Given the description of an element on the screen output the (x, y) to click on. 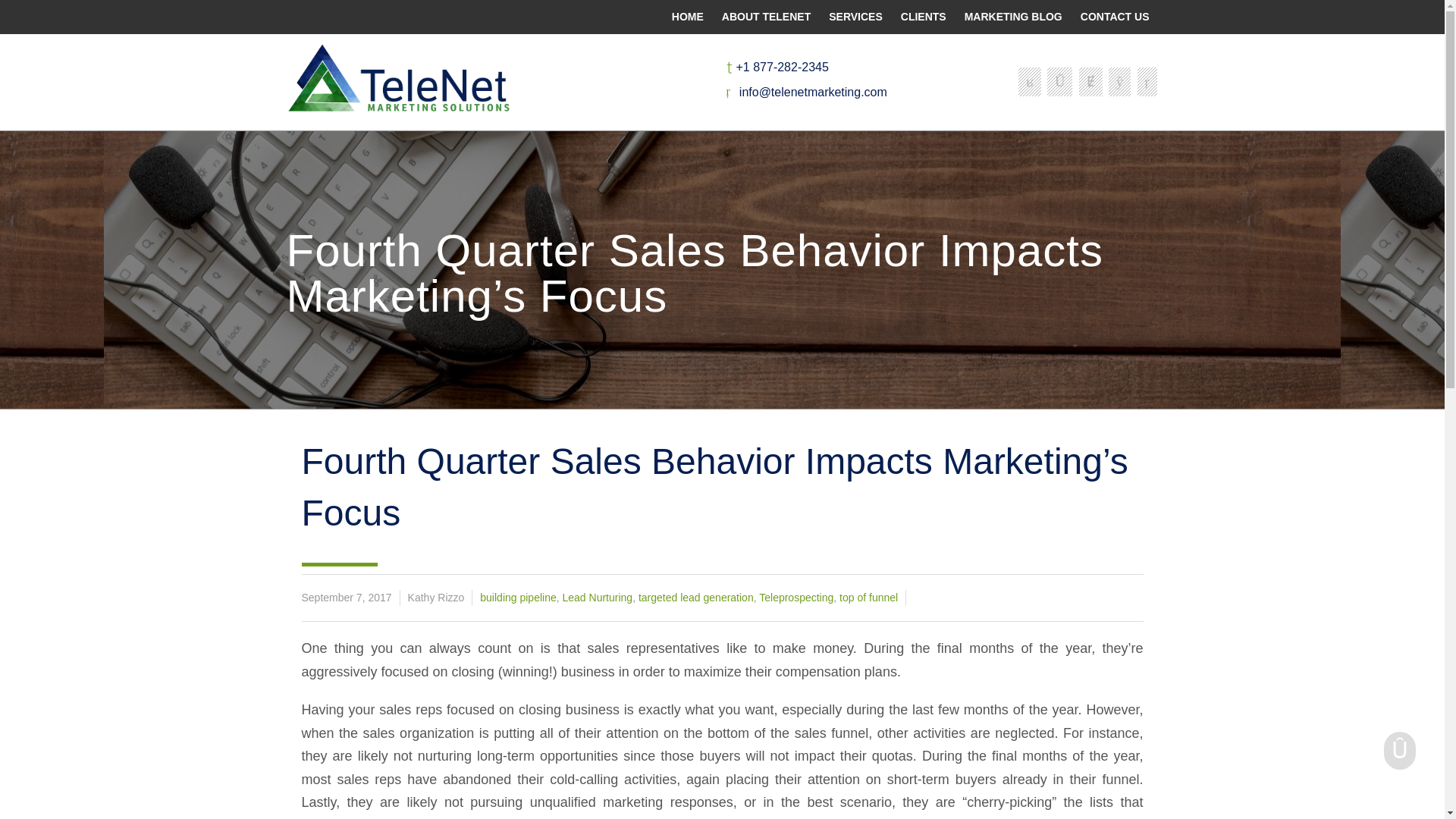
HOME (687, 17)
Lead Nurturing (597, 597)
MARKETING BLOG (1013, 17)
building pipeline (518, 597)
CONTACT US (1114, 17)
Kathy Rizzo (435, 597)
CLIENTS (923, 17)
ABOUT TELENET (766, 17)
SERVICES (855, 17)
View all posts by Kathy Rizzo (435, 597)
